Given the description of an element on the screen output the (x, y) to click on. 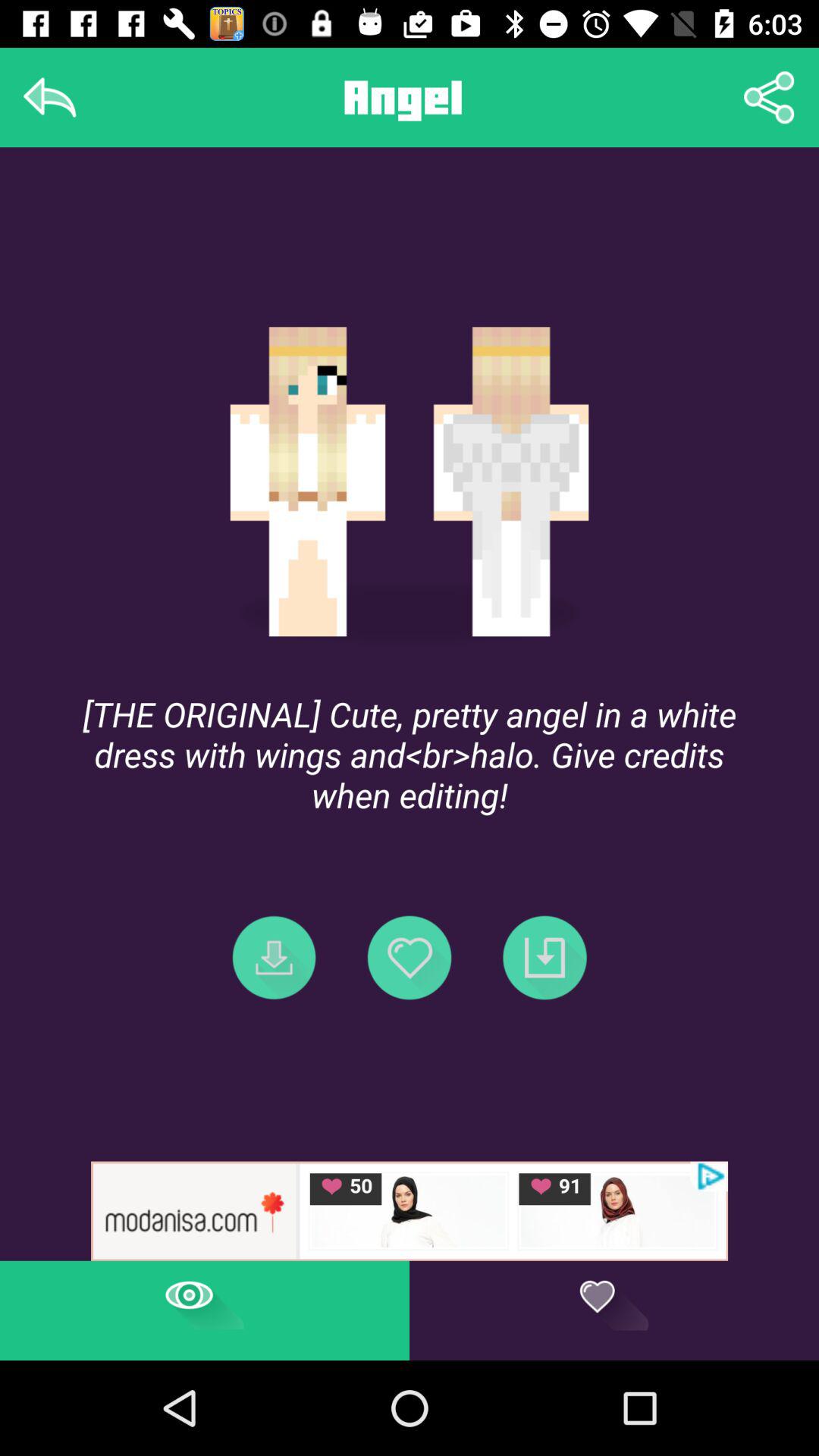
click on the first icon in a row of three icons (274, 958)
click on the share image icon (769, 96)
click on the second icon in the row (409, 958)
